Given the description of an element on the screen output the (x, y) to click on. 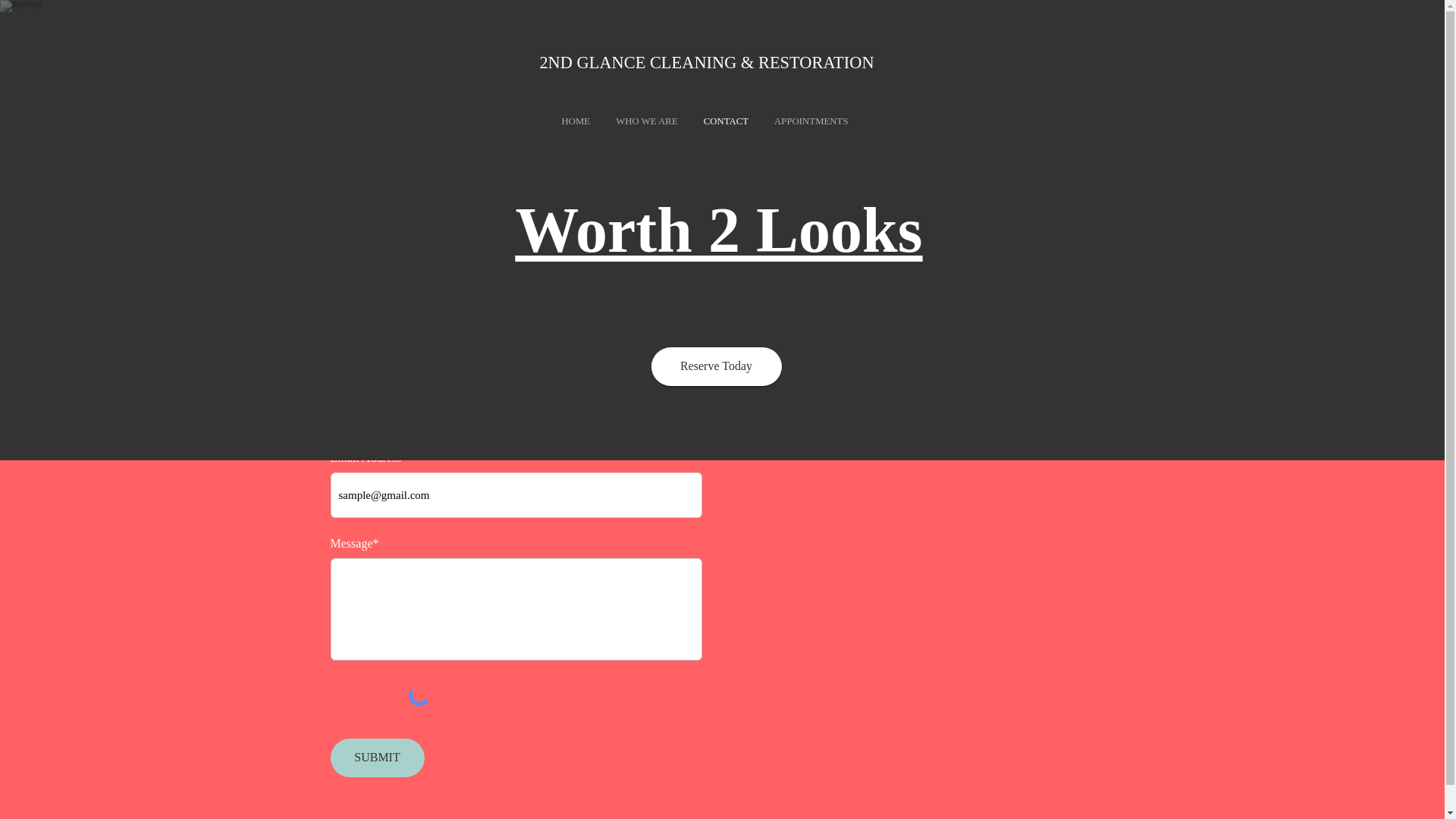
Reserve Today Element type: text (715, 366)
WHO WE ARE Element type: text (646, 121)
SUBMIT Element type: text (377, 757)
HOME Element type: text (576, 121)
APPOINTMENTS Element type: text (810, 121)
CONTACT Element type: text (725, 121)
